Given the description of an element on the screen output the (x, y) to click on. 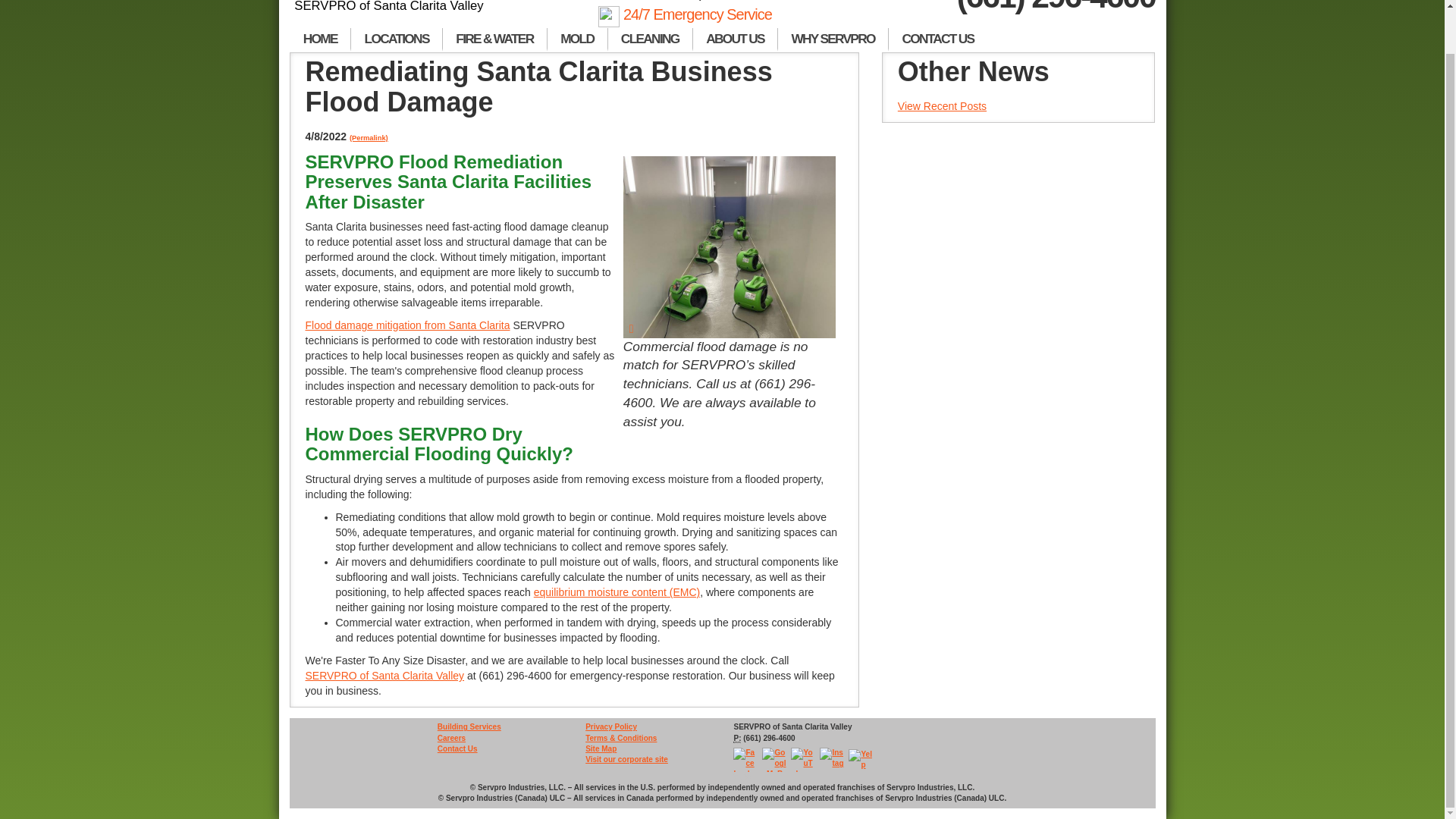
ABOUT US (735, 39)
MOLD (577, 39)
SERVPRO of Santa Clarita Valley (389, 6)
LOCATIONS (396, 39)
CLEANING (650, 39)
HOME (319, 39)
